Given the description of an element on the screen output the (x, y) to click on. 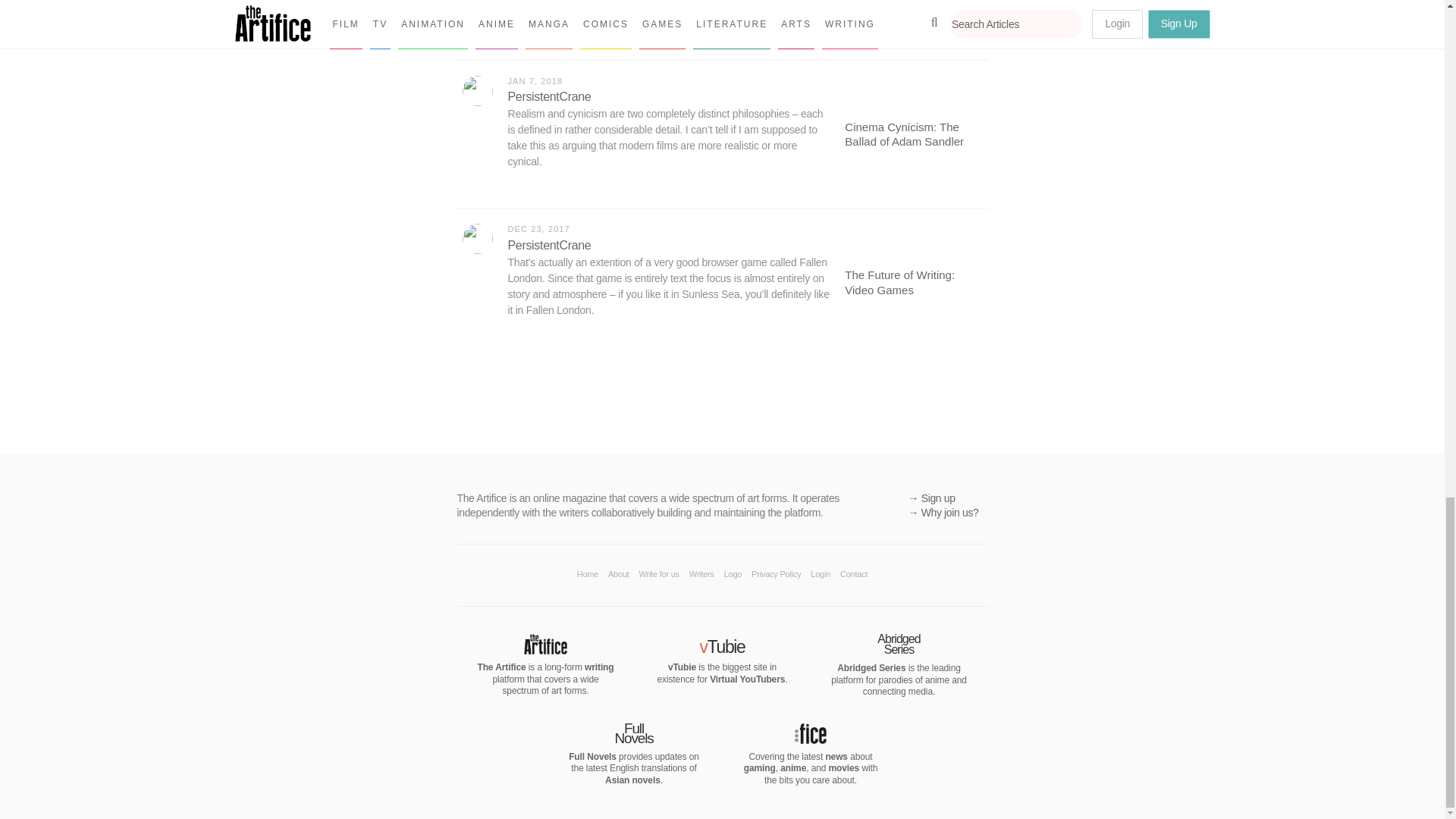
The Artifice (545, 649)
